Given the description of an element on the screen output the (x, y) to click on. 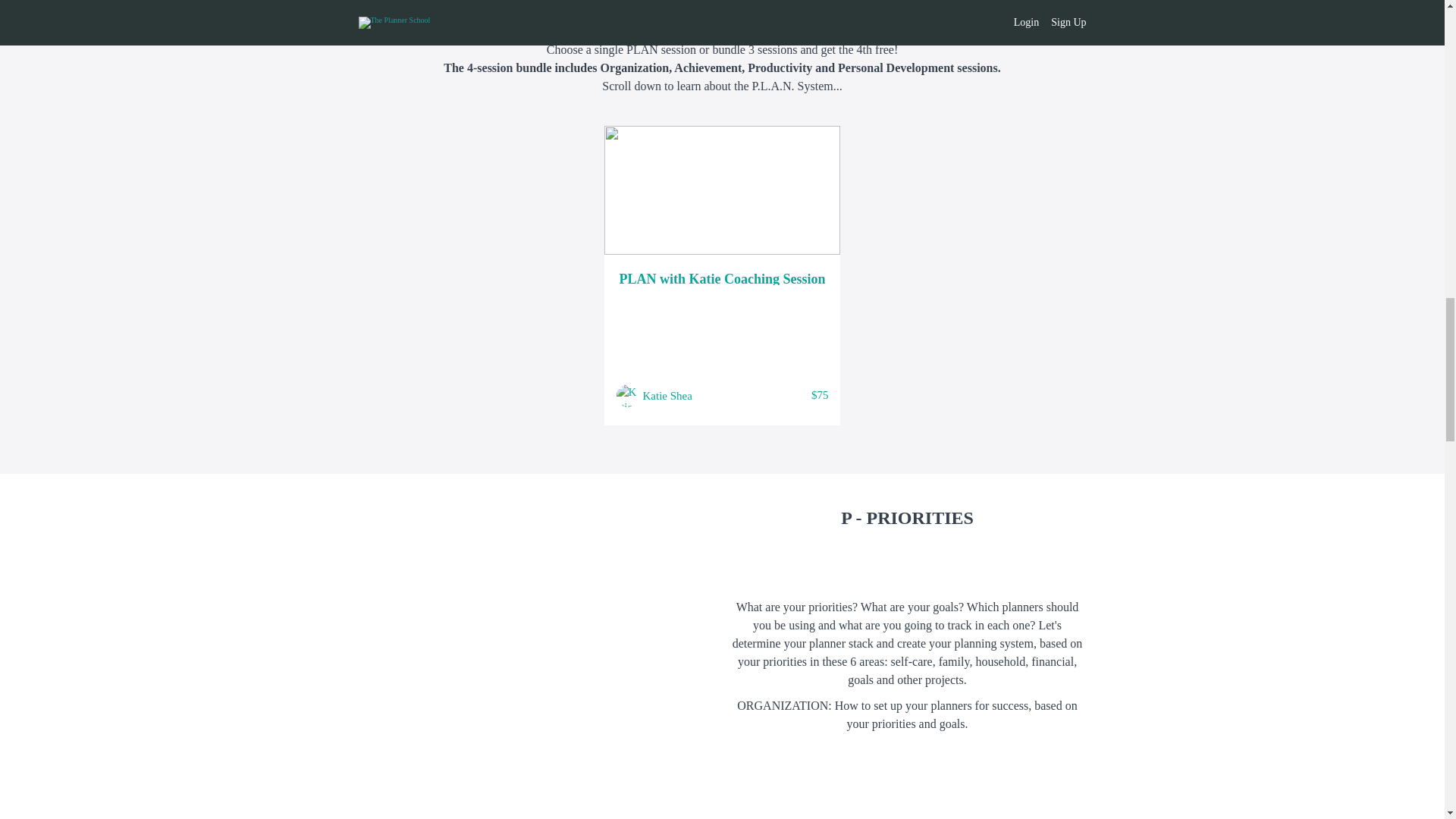
Katie Shea (668, 395)
PLAN with Katie Coaching Session (721, 278)
